Given the description of an element on the screen output the (x, y) to click on. 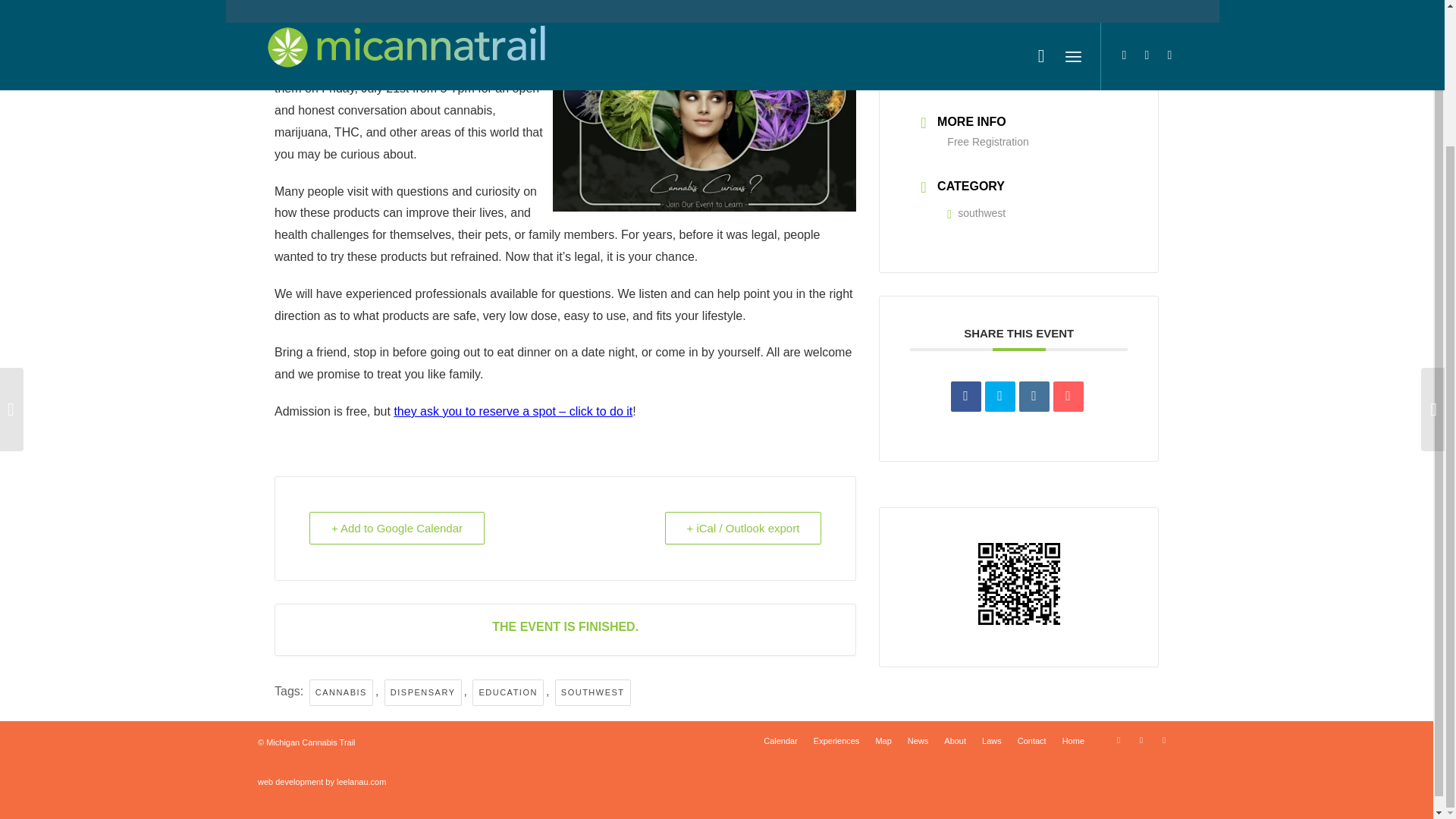
X (1117, 739)
southwest (976, 213)
Free Registration (987, 141)
Email (1067, 396)
Share on Facebook (965, 396)
Facebook (1141, 739)
City Hall Provisions of Fennville (359, 66)
Instagram (1163, 739)
Linkedin (1034, 396)
DISPENSARY (422, 692)
